Given the description of an element on the screen output the (x, y) to click on. 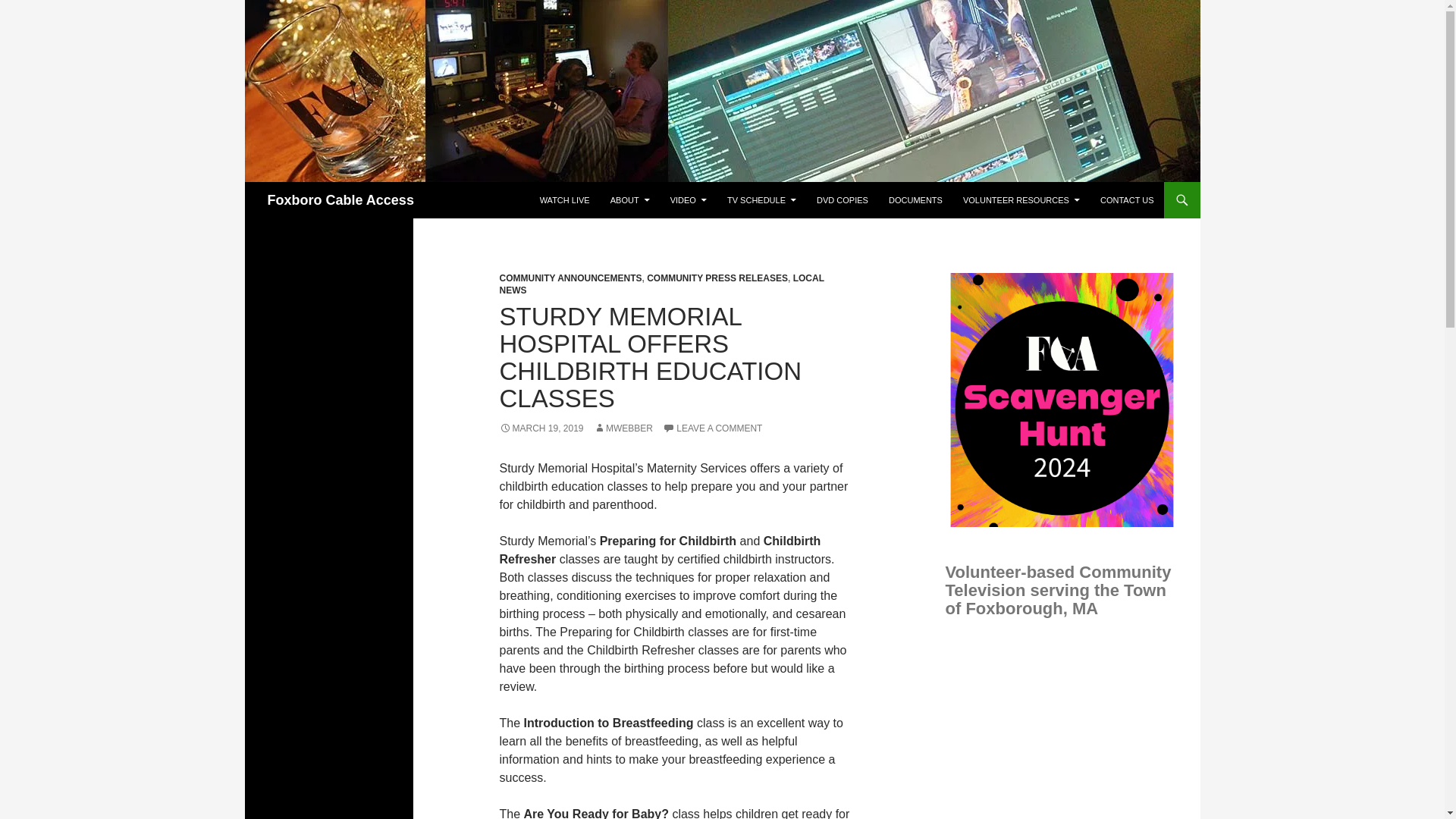
TV SCHEDULE (761, 199)
Foxboro Cable Access (339, 199)
CONTACT US (1126, 199)
LEAVE A COMMENT (711, 428)
DOCUMENTS (915, 199)
LOCAL NEWS (661, 283)
MARCH 19, 2019 (541, 428)
WATCH LIVE (564, 199)
VIDEO (688, 199)
COMMUNITY ANNOUNCEMENTS (570, 277)
COMMUNITY PRESS RELEASES (716, 277)
VOLUNTEER RESOURCES (1021, 199)
ABOUT (630, 199)
